Given the description of an element on the screen output the (x, y) to click on. 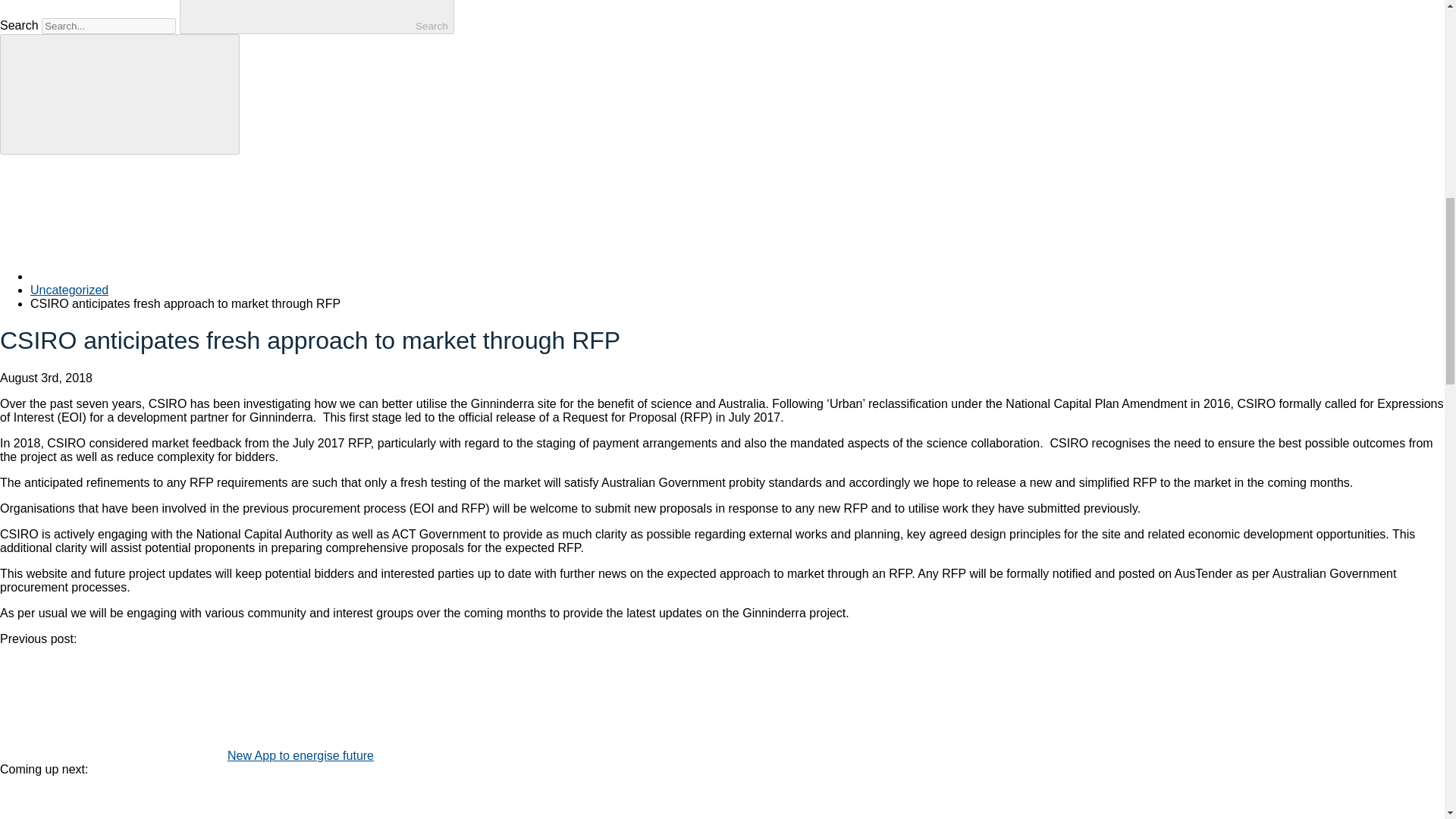
Search (316, 17)
Uncategorized (68, 289)
New App to energise future (300, 755)
